Given the description of an element on the screen output the (x, y) to click on. 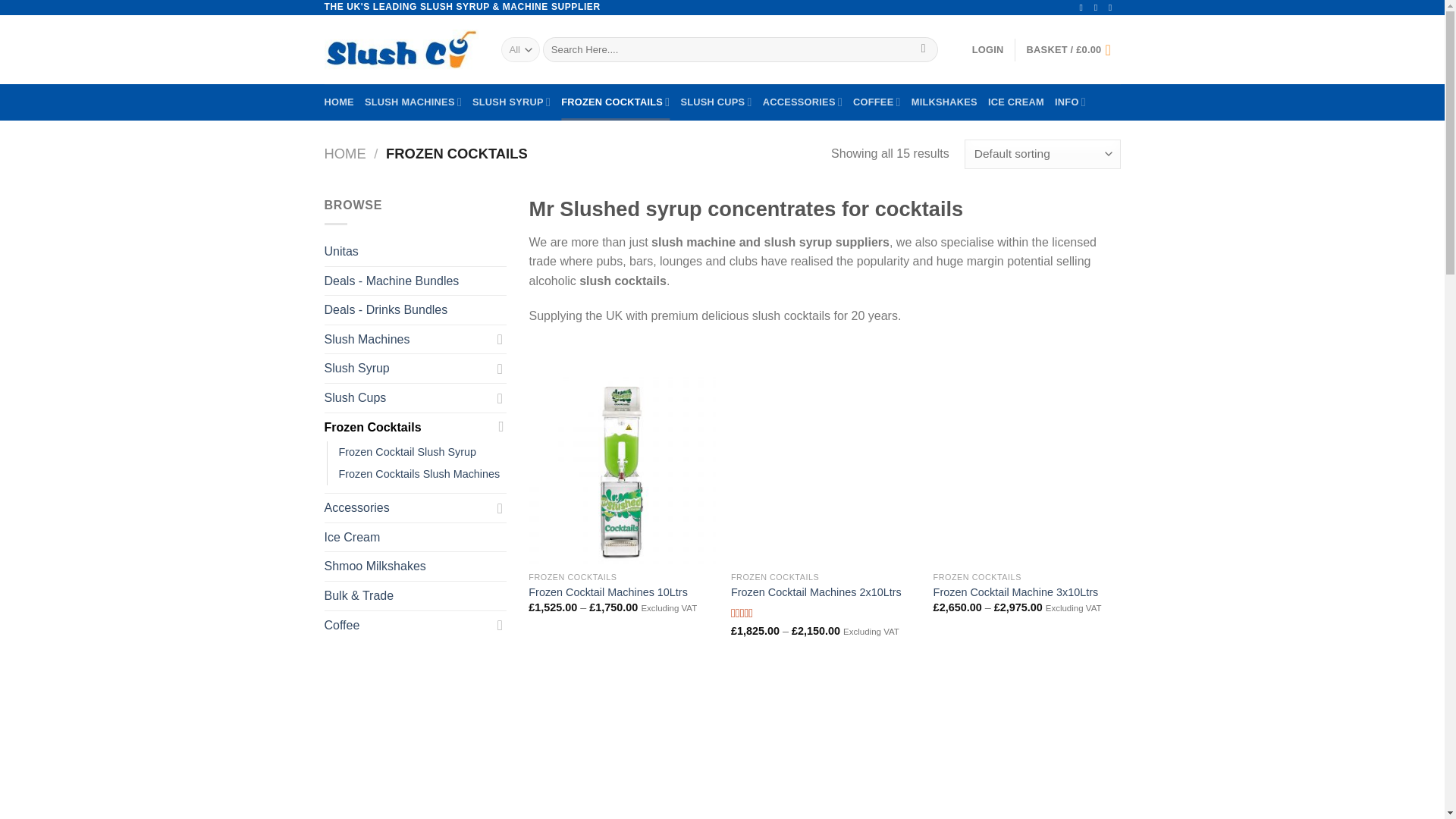
LOGIN (988, 49)
FROZEN COCKTAILS (614, 102)
Basket (1073, 49)
COFFEE (877, 102)
SLUSH CUPS (715, 102)
Search (923, 49)
ACCESSORIES (802, 102)
SLUSH MACHINES (413, 102)
SLUSH SYRUP (510, 102)
